Given the description of an element on the screen output the (x, y) to click on. 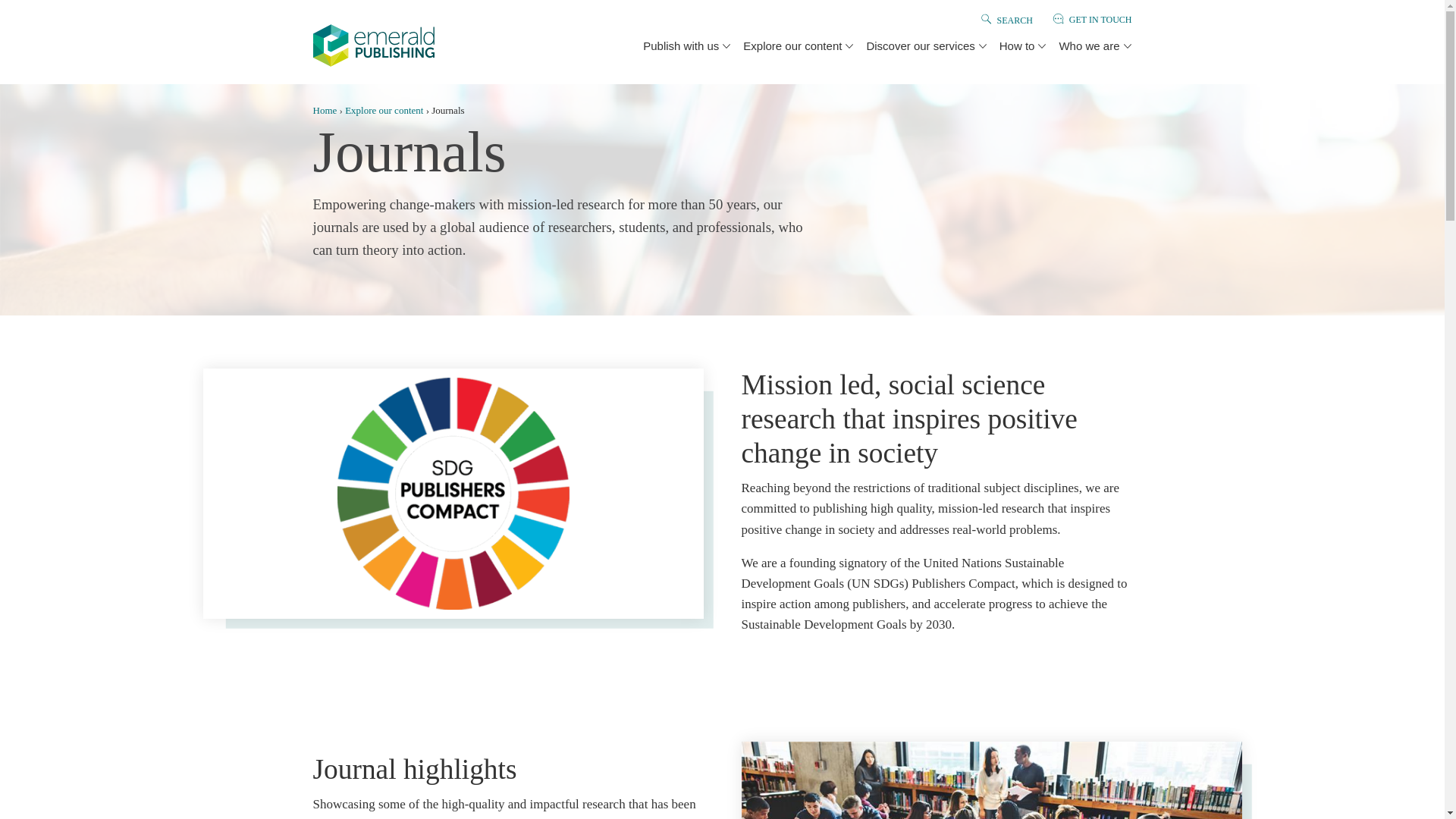
Publish with us (680, 45)
SEARCH (1013, 20)
GET IN TOUCH (1100, 19)
